Given the description of an element on the screen output the (x, y) to click on. 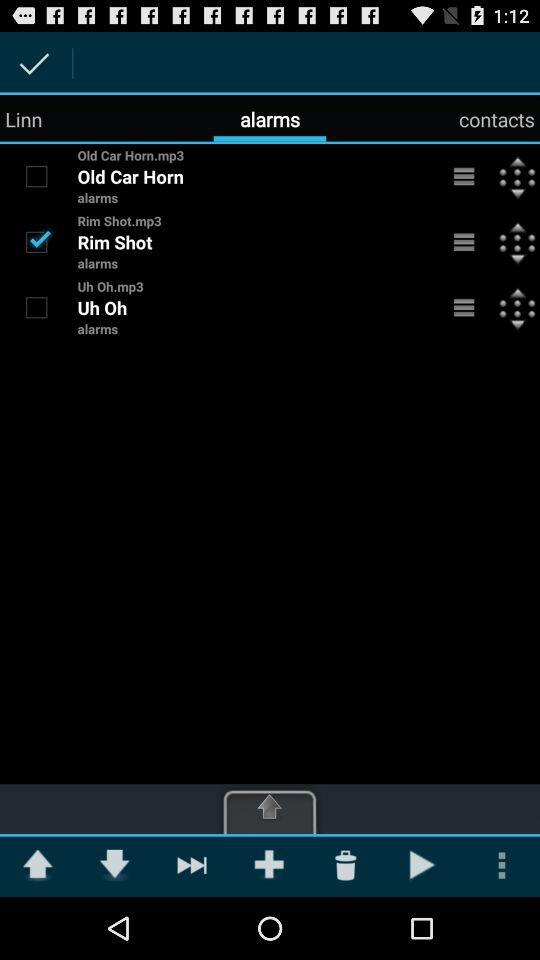
untick alarm (36, 241)
